Given the description of an element on the screen output the (x, y) to click on. 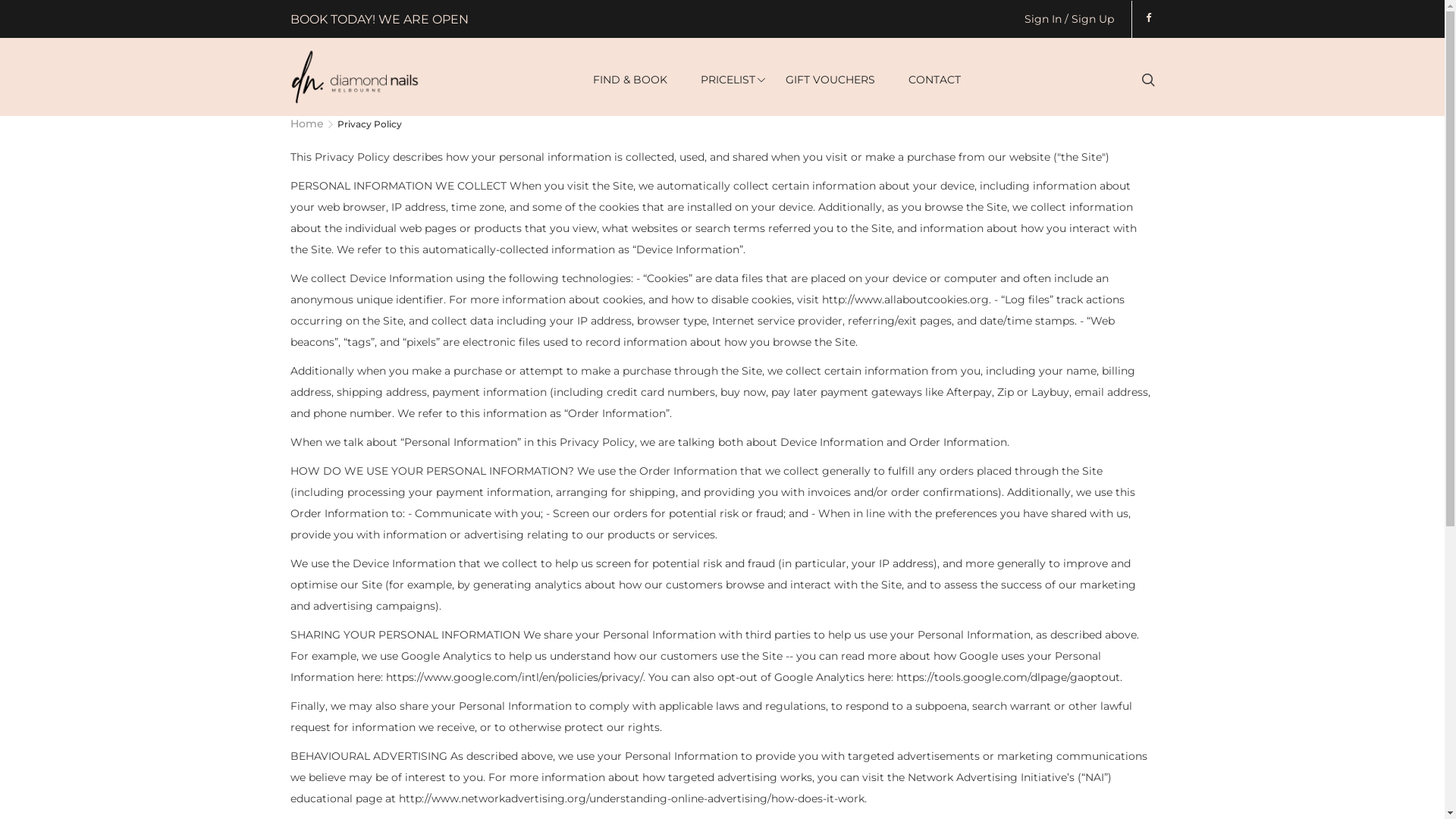
CONTACT Element type: text (934, 79)
Home Element type: text (311, 123)
Diamond Nails Melbourne Element type: hover (353, 76)
https://tools.google.com/dlpage/gaoptout. Element type: text (1009, 677)
GIFT VOUCHERS Element type: text (830, 79)
FIND & BOOK Element type: text (629, 79)
PRICELIST Element type: text (727, 79)
